Given the description of an element on the screen output the (x, y) to click on. 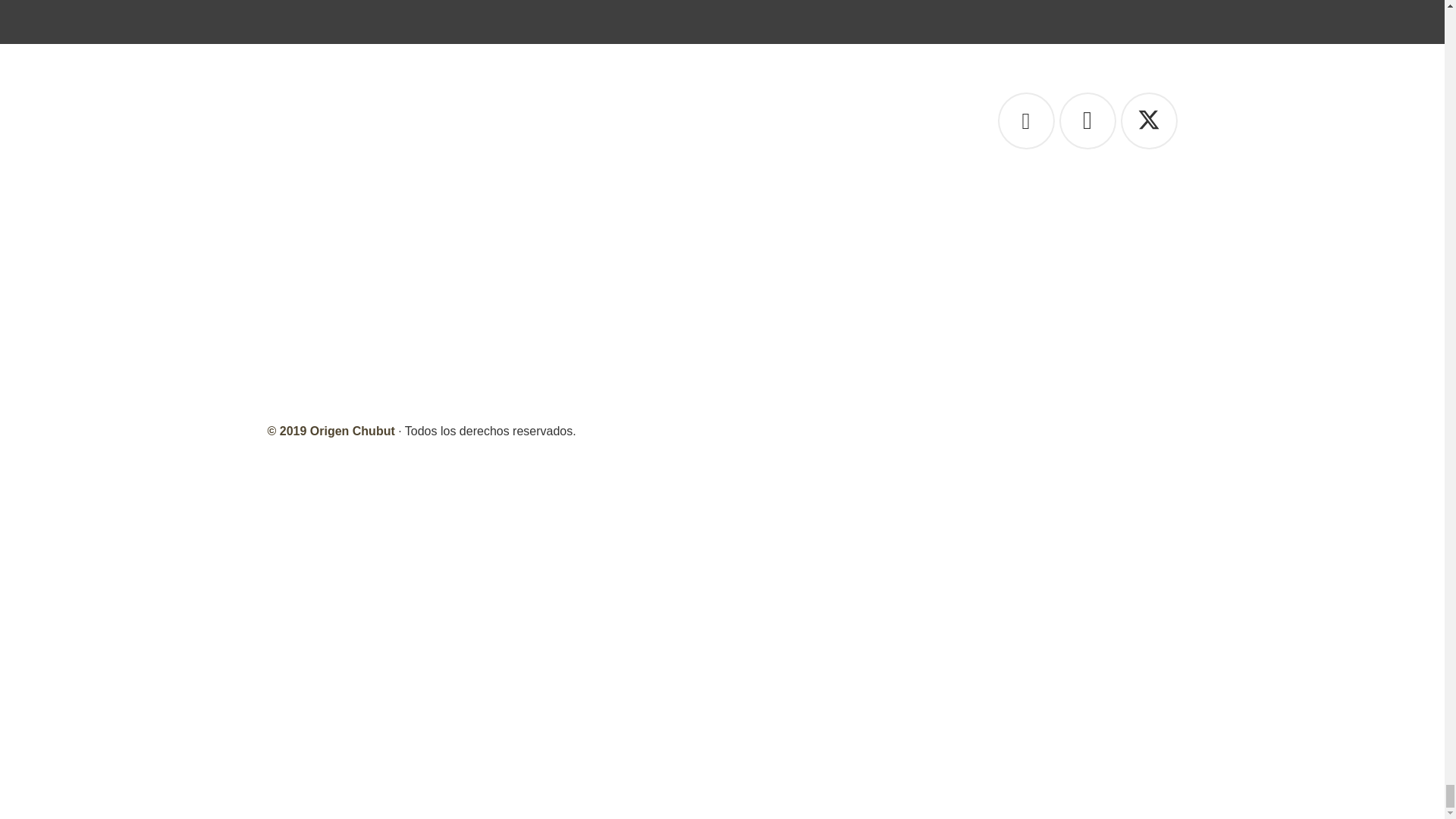
Instagram (1086, 120)
Twitter (1149, 120)
Facebook (1025, 120)
